Given the description of an element on the screen output the (x, y) to click on. 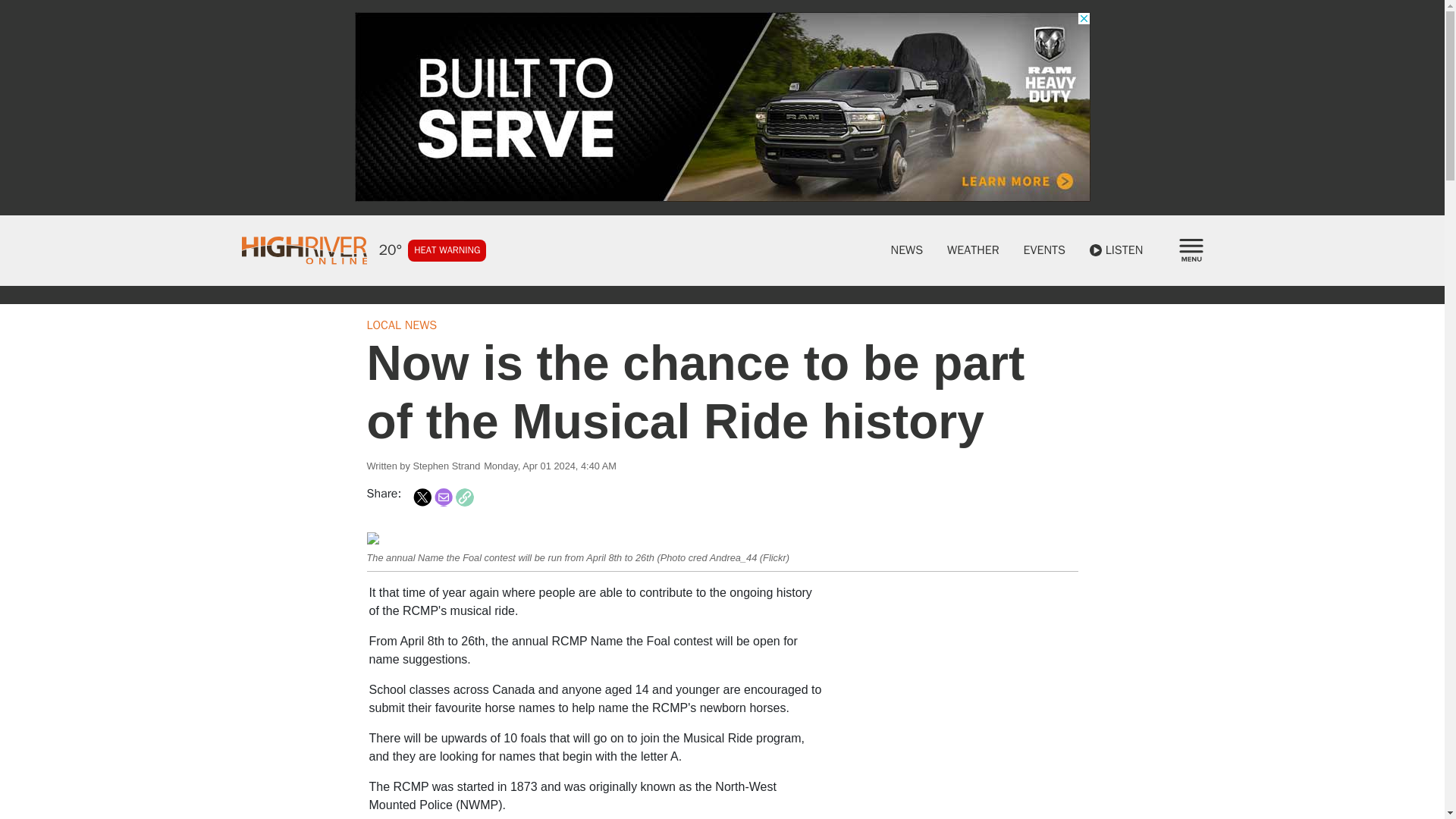
Share to Email (442, 497)
Copy Link (464, 497)
3rd party ad content (961, 678)
